Given the description of an element on the screen output the (x, y) to click on. 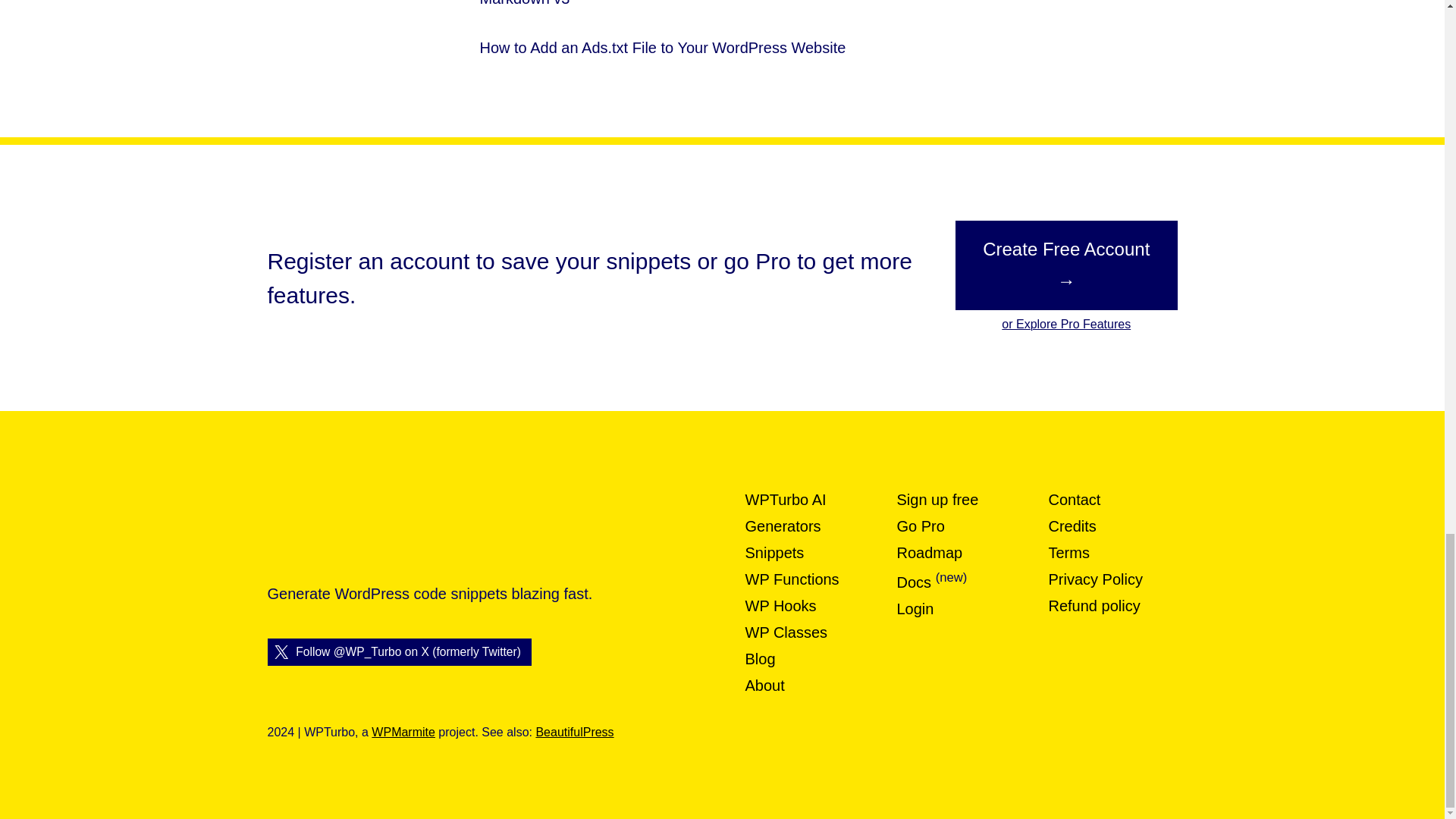
How to Add an Ads.txt File to Your WordPress Website (662, 48)
Blog (759, 658)
Terms (1068, 552)
About (764, 685)
Docs (913, 582)
WP Functions (791, 579)
Go Pro (919, 525)
Generators (782, 525)
Login (914, 608)
Privacy Policy (1094, 579)
Snippets (773, 552)
Sign up free (937, 499)
Roadmap (929, 552)
WPTurbo AI (784, 499)
WP Hooks (779, 605)
